Given the description of an element on the screen output the (x, y) to click on. 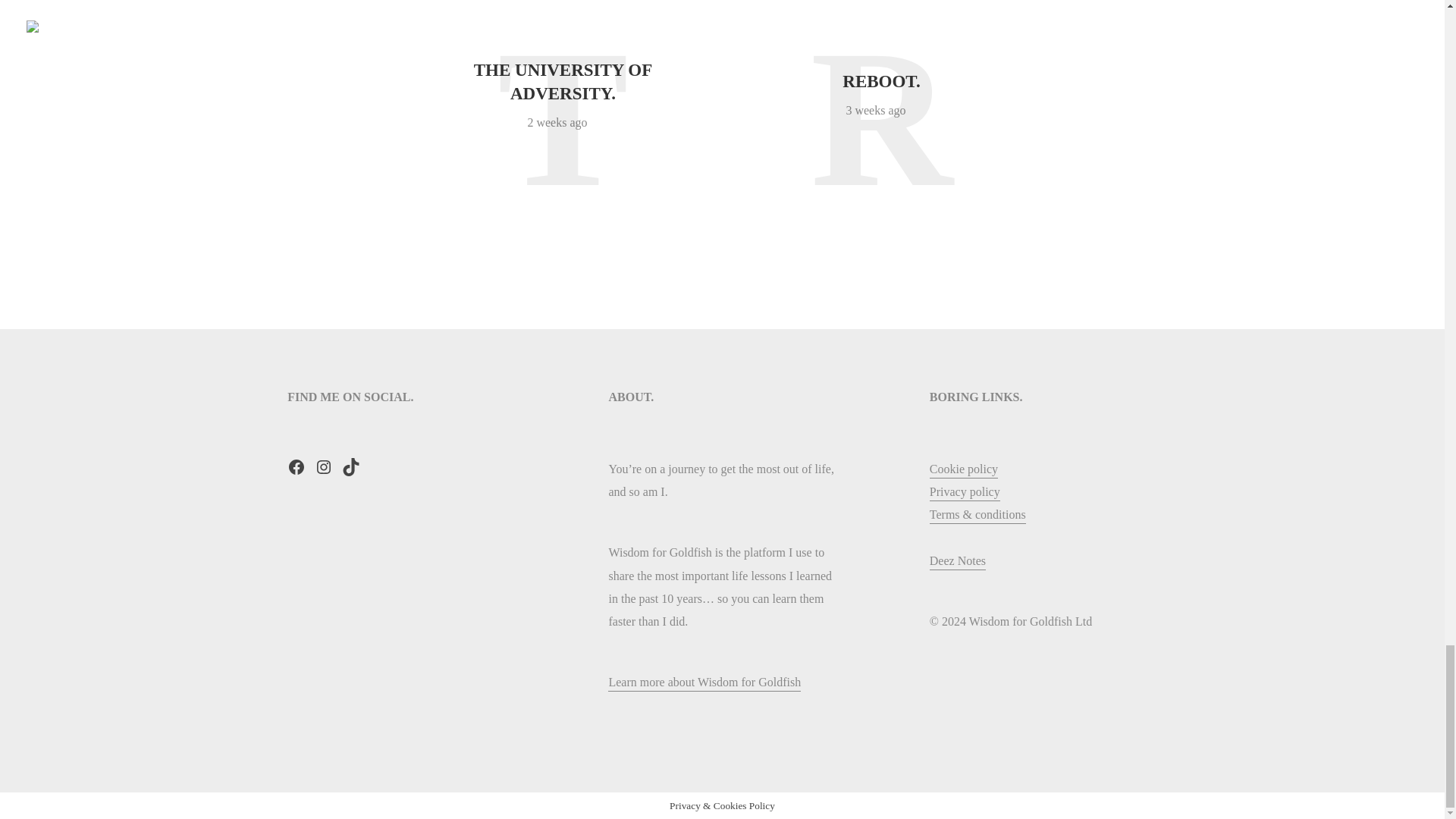
Learn more about Wisdom for Goldfish (704, 683)
THE UNIVERSITY OF ADVERSITY. (562, 81)
Facebook (295, 466)
Cookie policy (963, 470)
Instagram (323, 466)
REBOOT. (881, 81)
Privacy policy (965, 493)
TikTok (350, 466)
Deez Notes (957, 562)
